Given the description of an element on the screen output the (x, y) to click on. 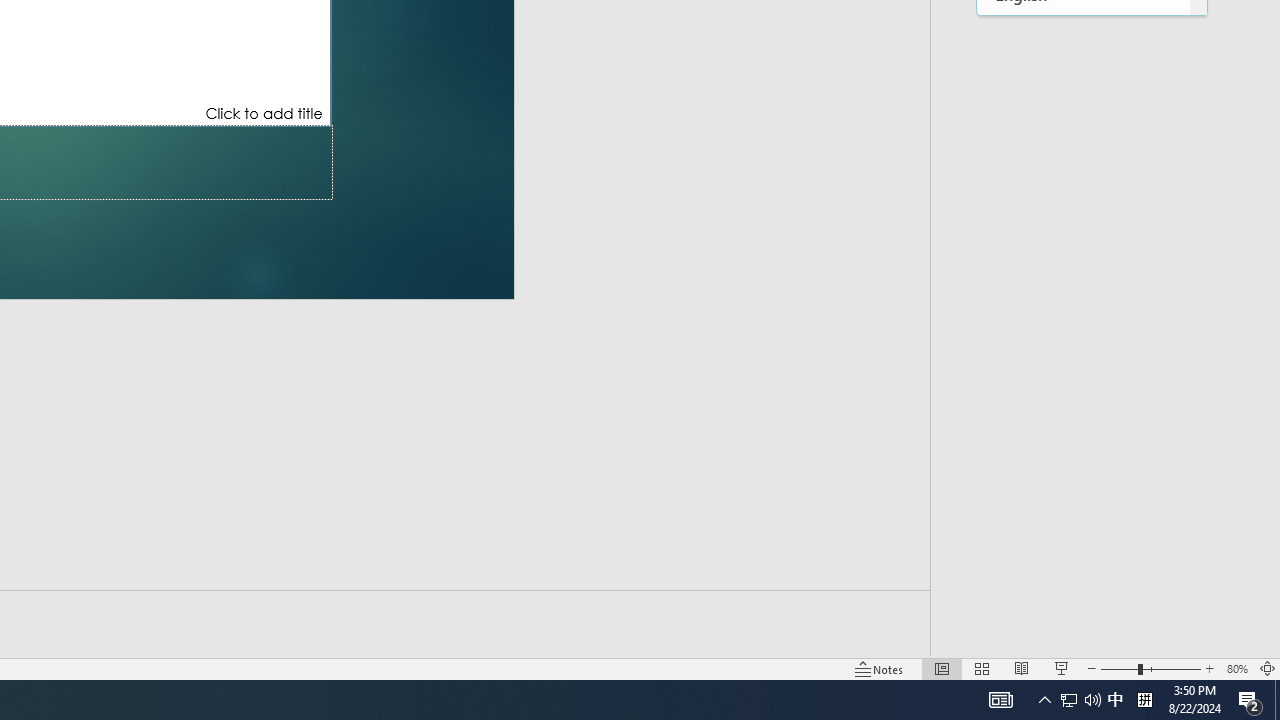
Zoom 80% (1236, 668)
Haitian Creole (1083, 567)
Estonian (1083, 35)
Gujarati (1083, 526)
Finnish (1083, 199)
Filipino (1083, 158)
Faroese (1083, 76)
Georgian (1083, 403)
